Given the description of an element on the screen output the (x, y) to click on. 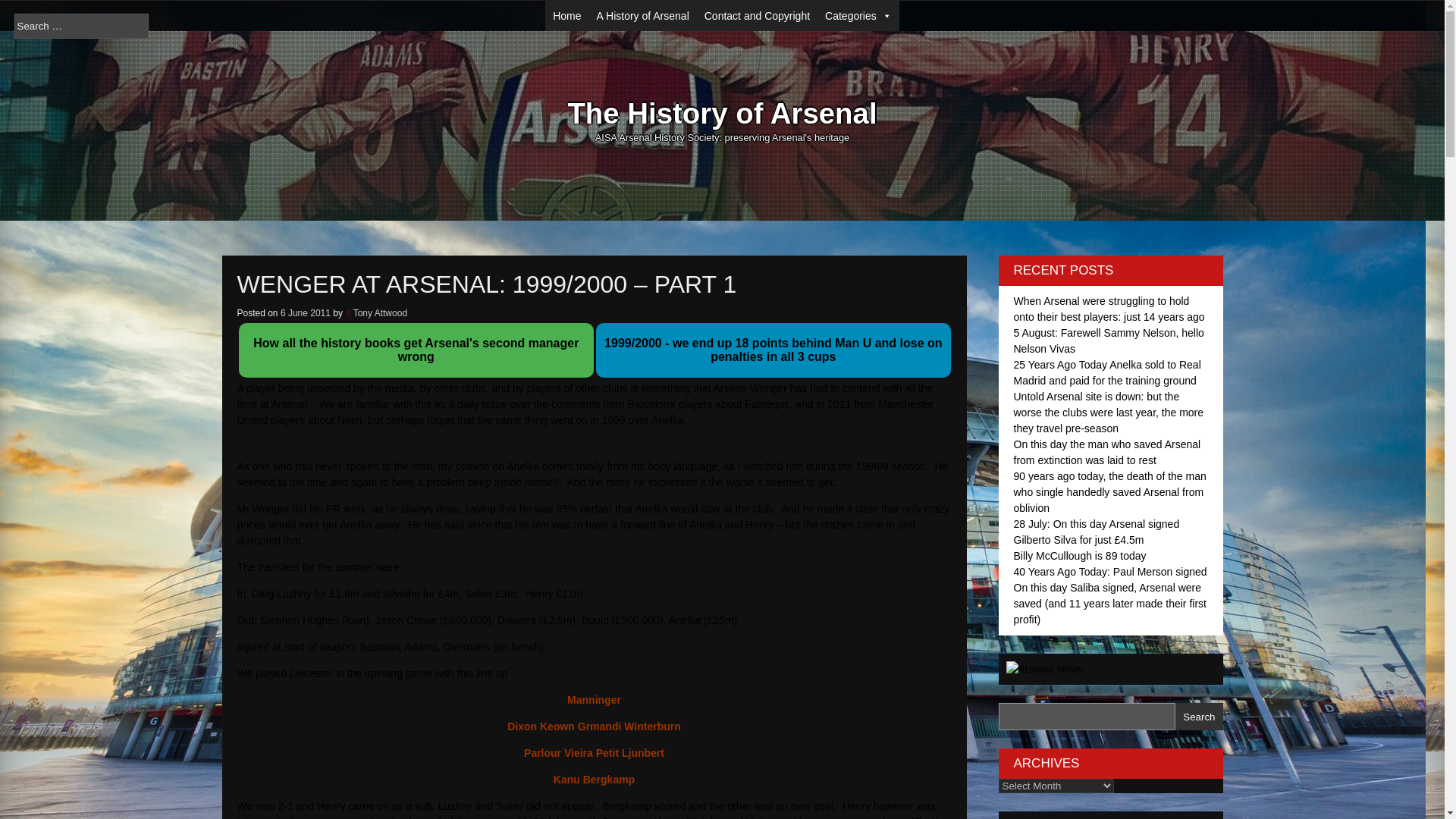
6 June 2011 (305, 312)
Tony Attwood (380, 312)
How all the history books get Arsenal's second manager wrong (415, 356)
A History of Arsenal (643, 15)
How all the history books get Arsenal's second manager wrong (416, 349)
The History of Arsenal (721, 115)
How all the history books get Arsenal's second manager wrong (415, 356)
Contact and Copyright (756, 15)
Arsenal News (1044, 668)
Home (566, 15)
Categories (857, 15)
